Given the description of an element on the screen output the (x, y) to click on. 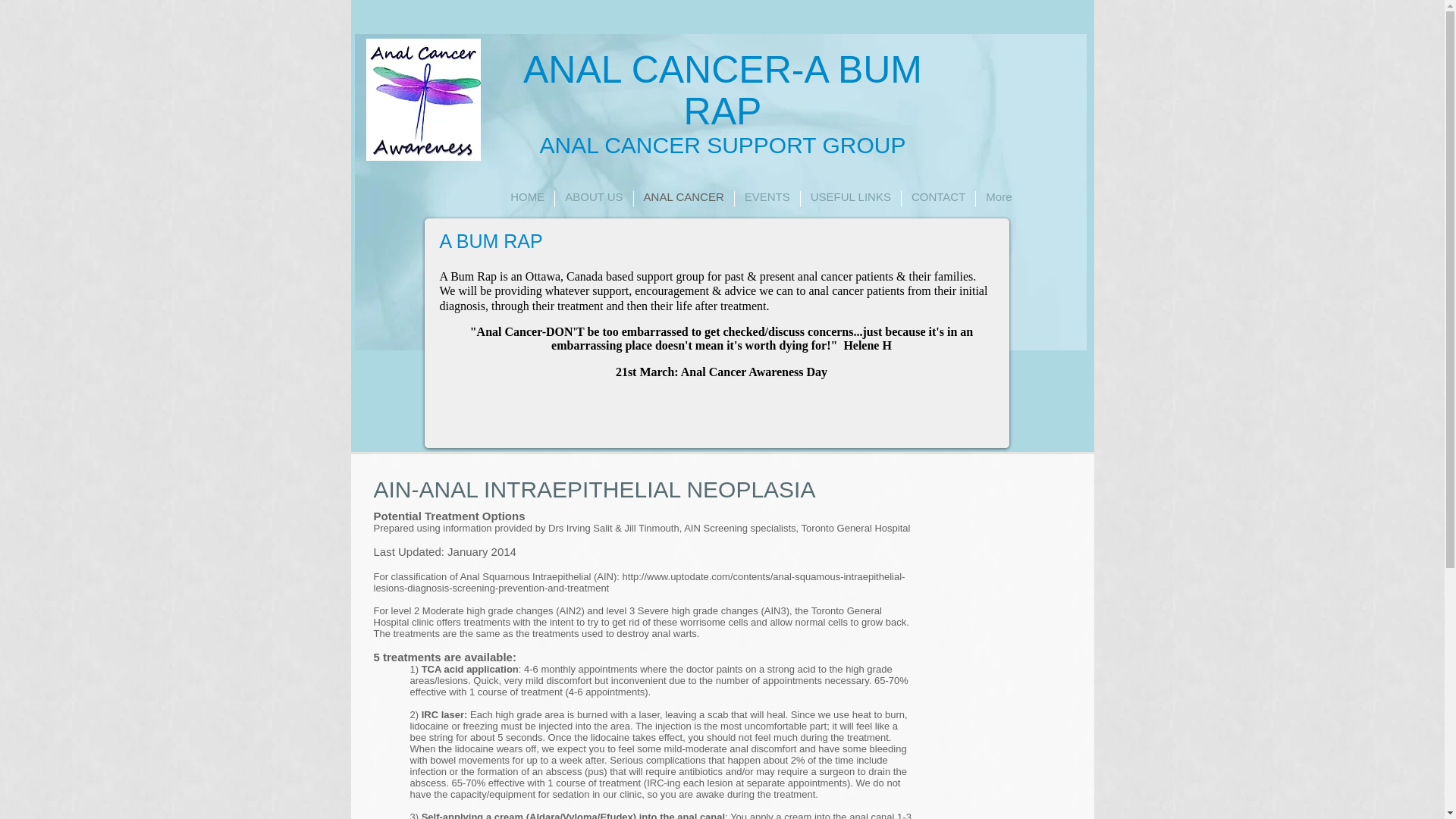
ANAL CANCER (683, 198)
EVENTS (767, 198)
USEFUL LINKS (850, 198)
ABOUT US (592, 198)
Twitter Follow (663, 230)
Twitter Follow (685, 253)
HOME (527, 198)
CONTACT (938, 198)
